Given the description of an element on the screen output the (x, y) to click on. 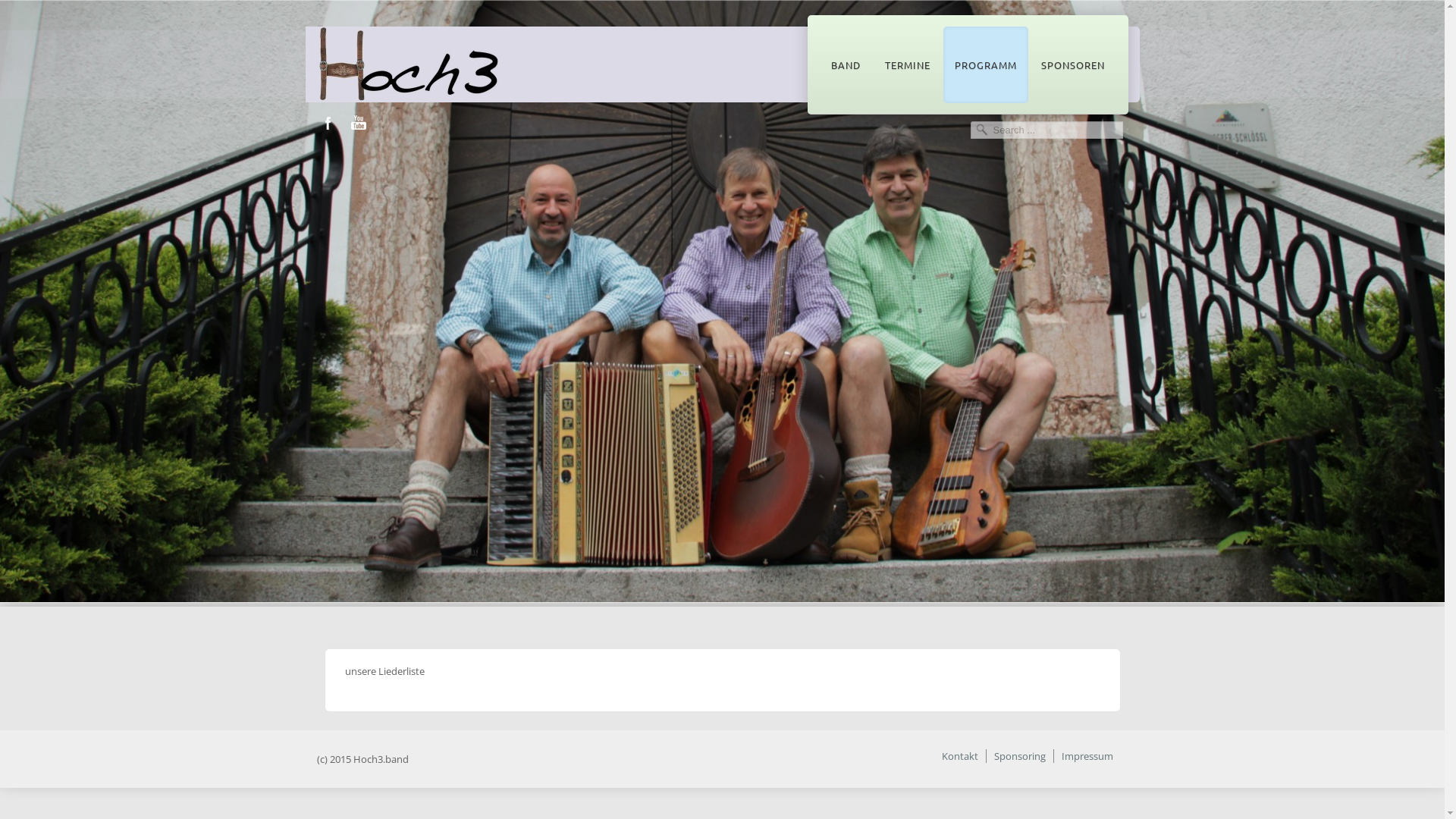
BAND Element type: text (845, 64)
PROGRAMM Element type: text (985, 64)
Impressum Element type: text (1087, 755)
Youtube Element type: text (357, 122)
Facebook Element type: text (327, 122)
SPONSOREN Element type: text (1072, 64)
Kontakt Element type: text (960, 755)
Sponsoring Element type: text (1019, 755)
TERMINE Element type: text (907, 64)
